Given the description of an element on the screen output the (x, y) to click on. 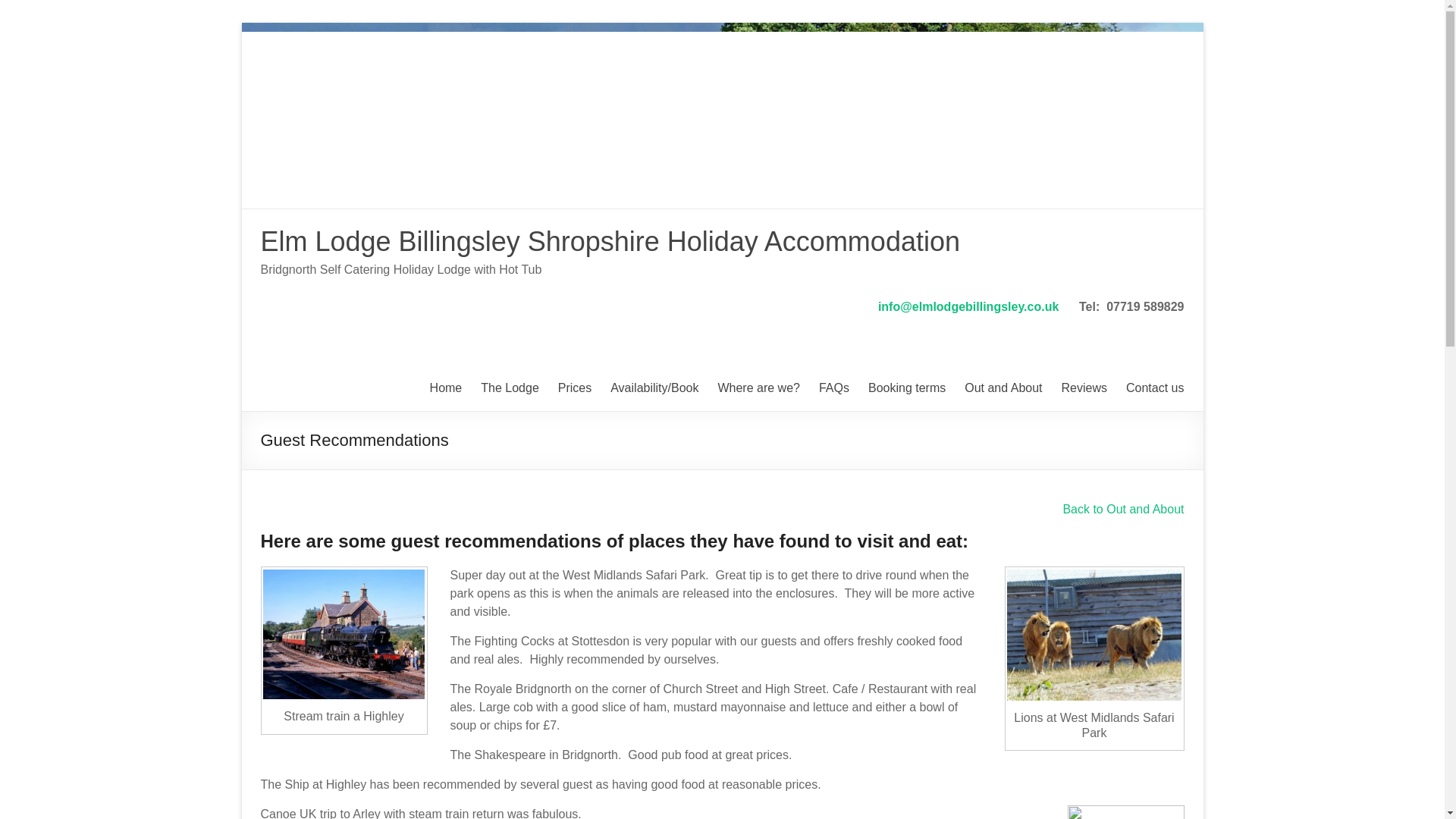
Home (446, 387)
Prices (574, 387)
Elm Lodge Billingsley Shropshire Holiday Accommodation (609, 241)
Where are we? (758, 387)
Elm Lodge Billingsley Shropshire Holiday Accommodation (609, 241)
The Lodge (509, 387)
Back to Out and About (1122, 508)
Booking terms (905, 387)
Contact us (1154, 387)
